Given the description of an element on the screen output the (x, y) to click on. 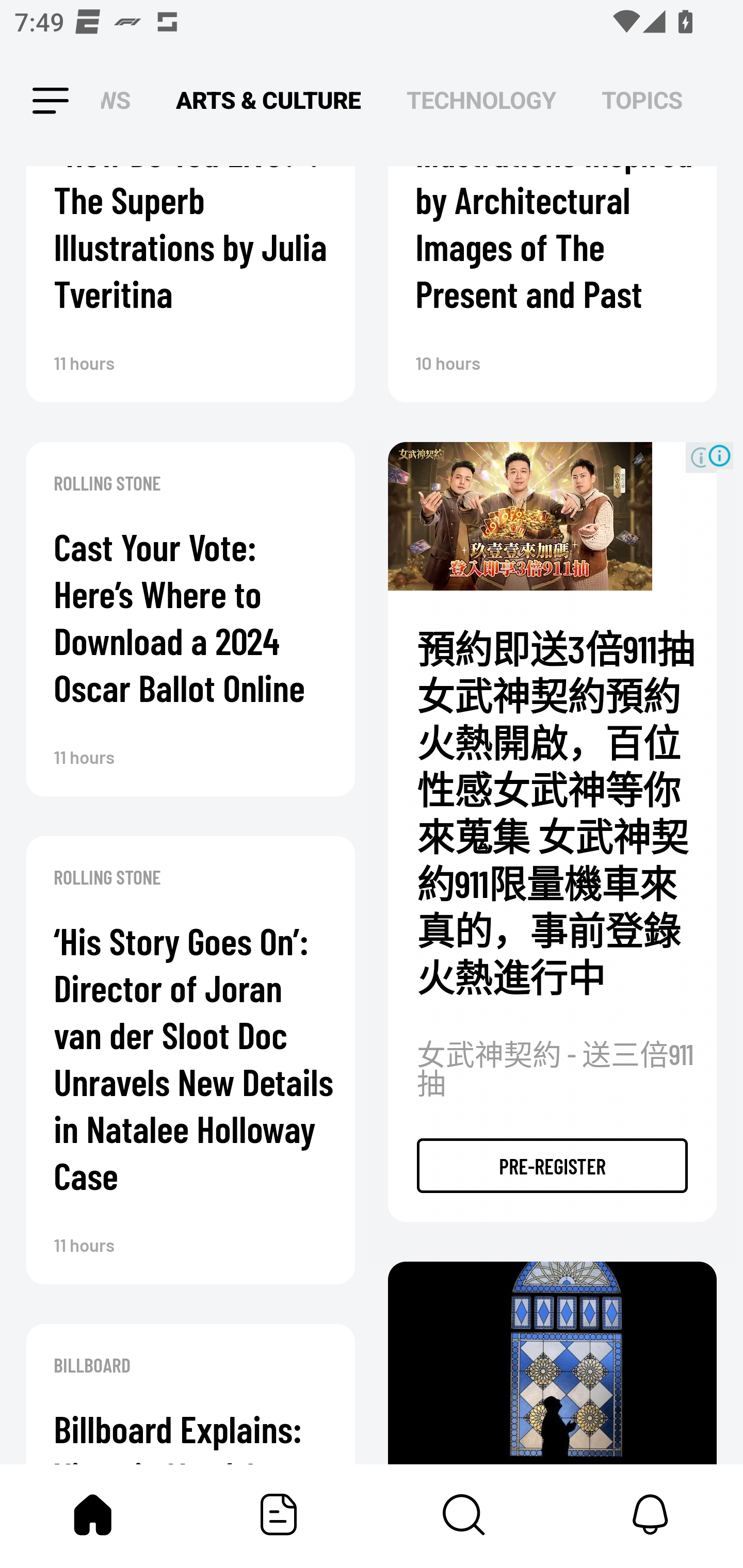
NEWS (121, 100)
TECHNOLOGY (481, 100)
TOPICS (641, 100)
Ad Choices Icon (719, 455)
Featured (278, 1514)
Content Store (464, 1514)
Notifications (650, 1514)
